Given the description of an element on the screen output the (x, y) to click on. 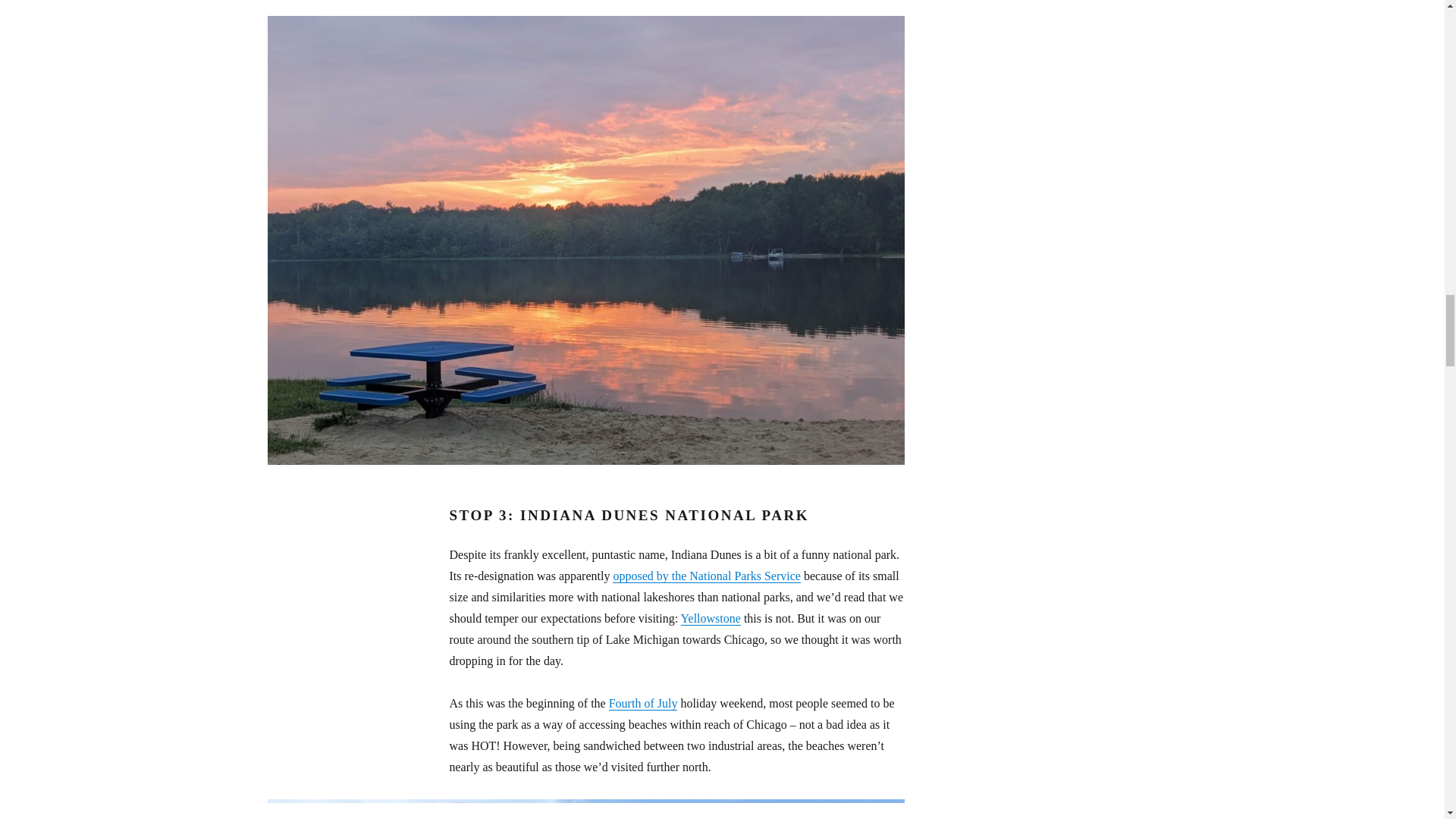
Fourth of July (643, 703)
Yellowstone (711, 617)
opposed by the National Parks Service (706, 575)
